Given the description of an element on the screen output the (x, y) to click on. 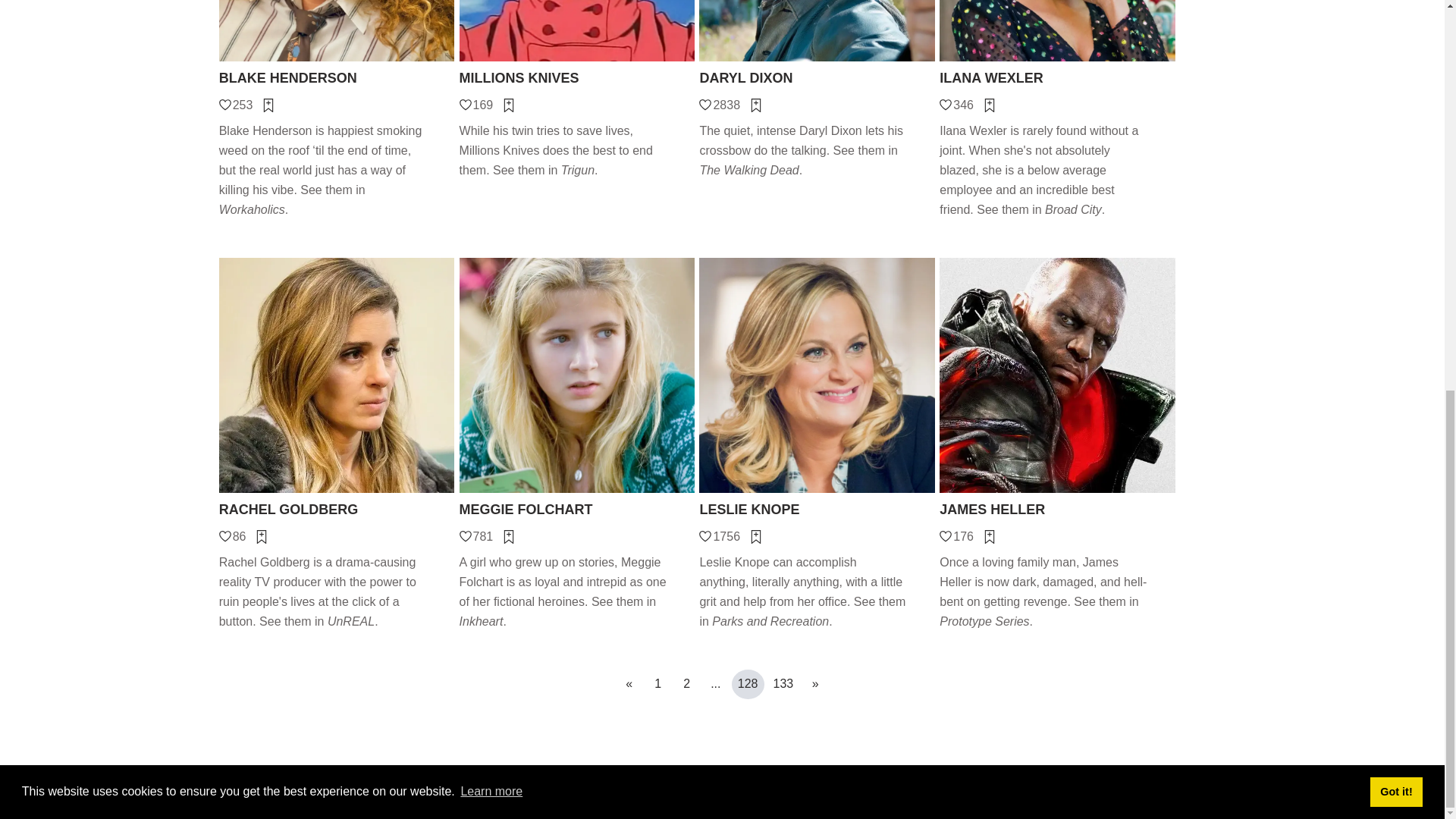
Learn more (491, 47)
DARYL DIXON (816, 77)
ILANA WEXLER (1056, 77)
MILLIONS KNIVES (577, 77)
BLAKE HENDERSON (336, 77)
Got it! (1396, 46)
